Given the description of an element on the screen output the (x, y) to click on. 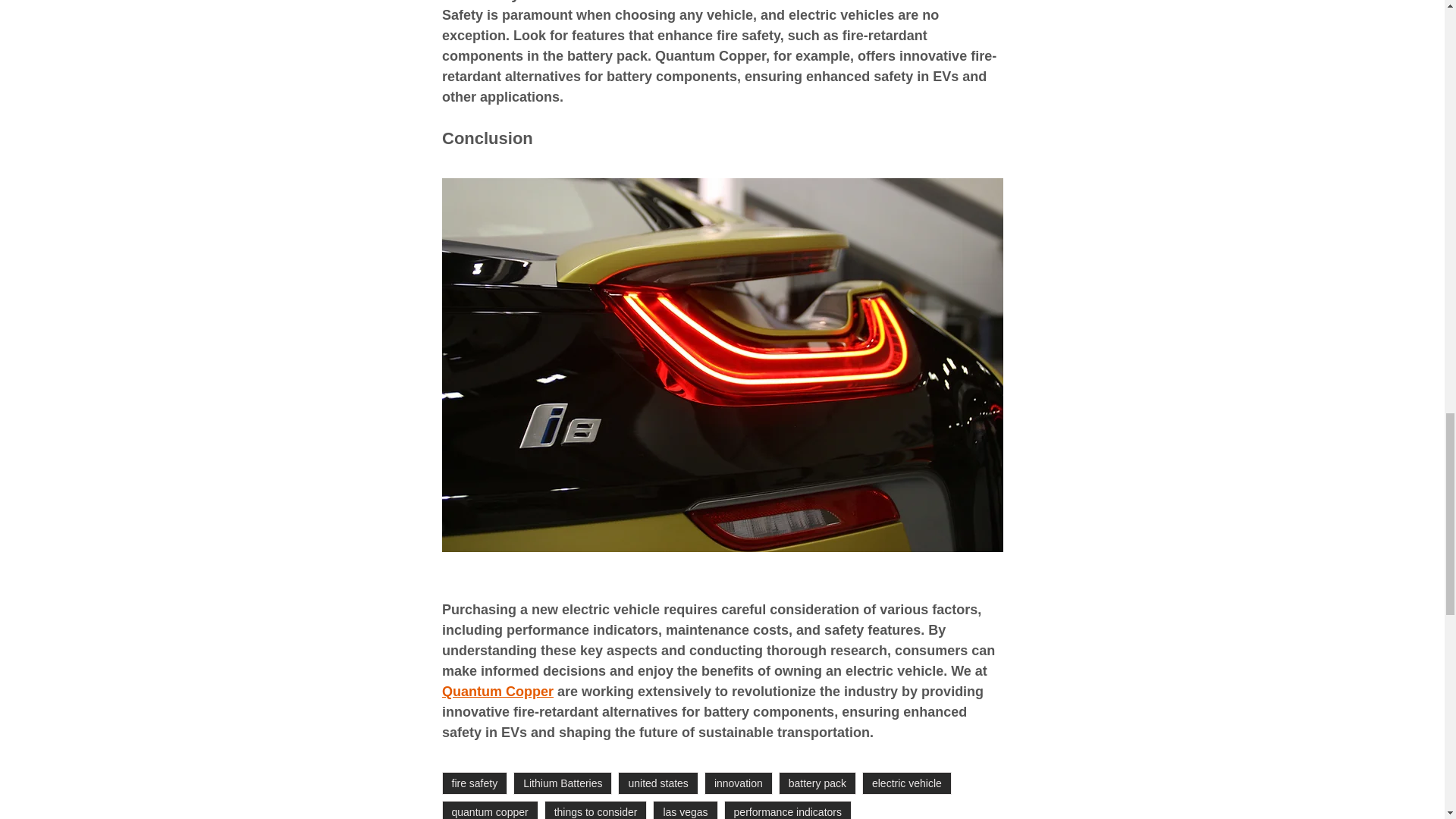
battery pack (817, 783)
innovation (738, 783)
Quantum Copper (497, 691)
Lithium Batteries (562, 783)
las vegas (684, 809)
things to consider (595, 809)
electric vehicle (906, 783)
quantum copper (489, 809)
performance indicators (787, 809)
united states (657, 783)
